Given the description of an element on the screen output the (x, y) to click on. 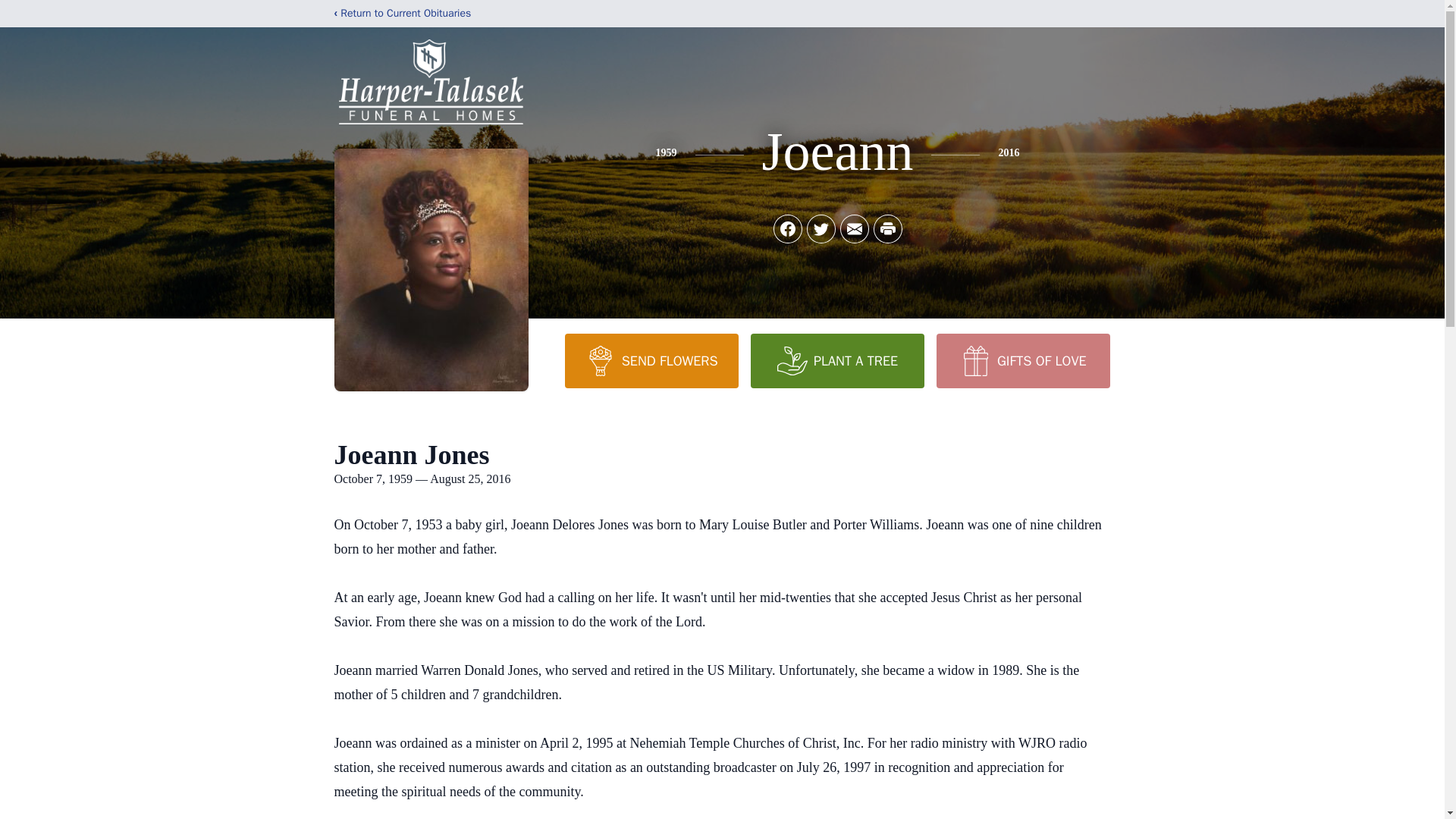
GIFTS OF LOVE (1022, 360)
PLANT A TREE (837, 360)
SEND FLOWERS (651, 360)
